Given the description of an element on the screen output the (x, y) to click on. 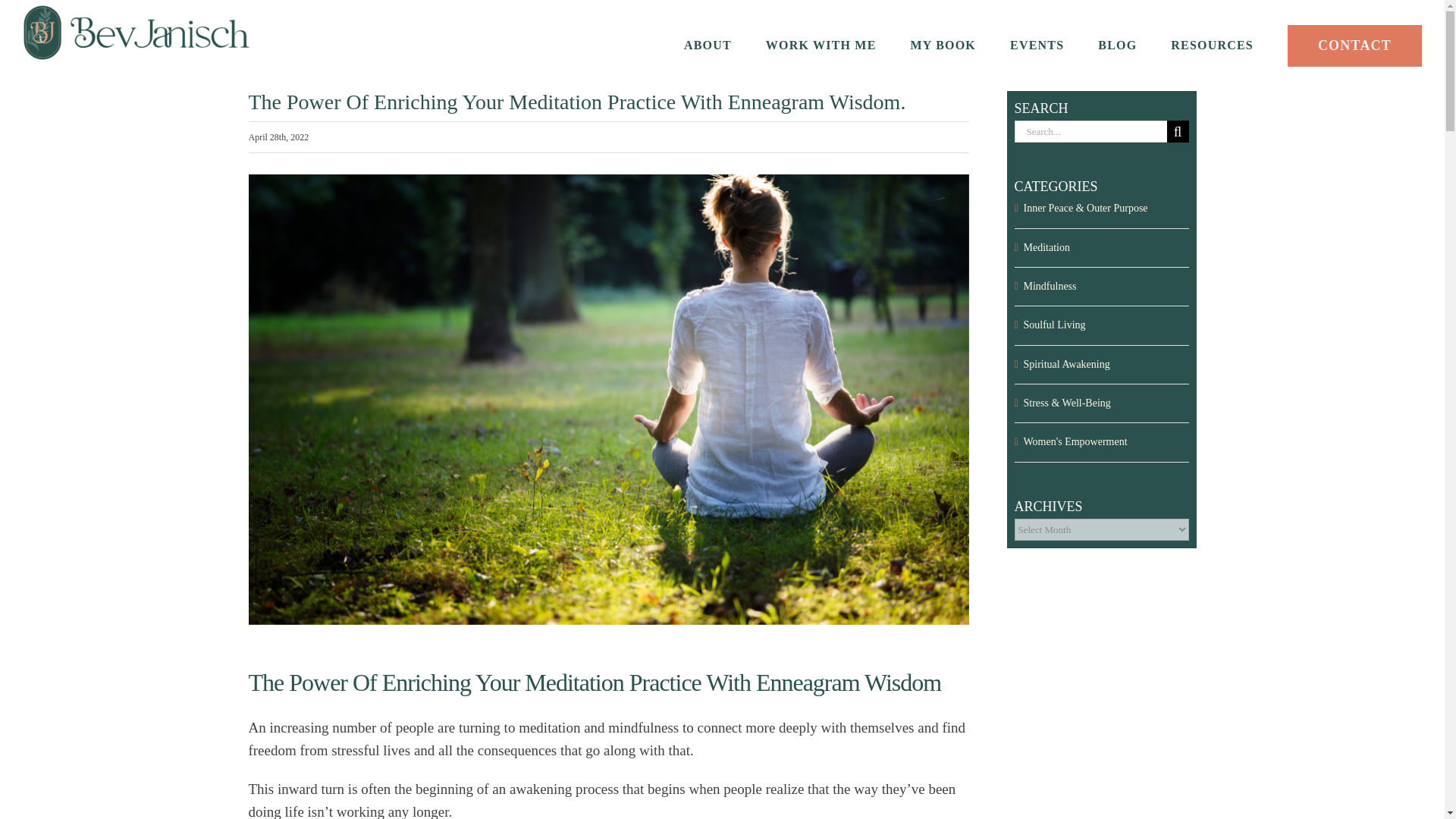
WORK WITH ME (820, 45)
CONTACT (1354, 45)
RESOURCES (1211, 45)
